Given the description of an element on the screen output the (x, y) to click on. 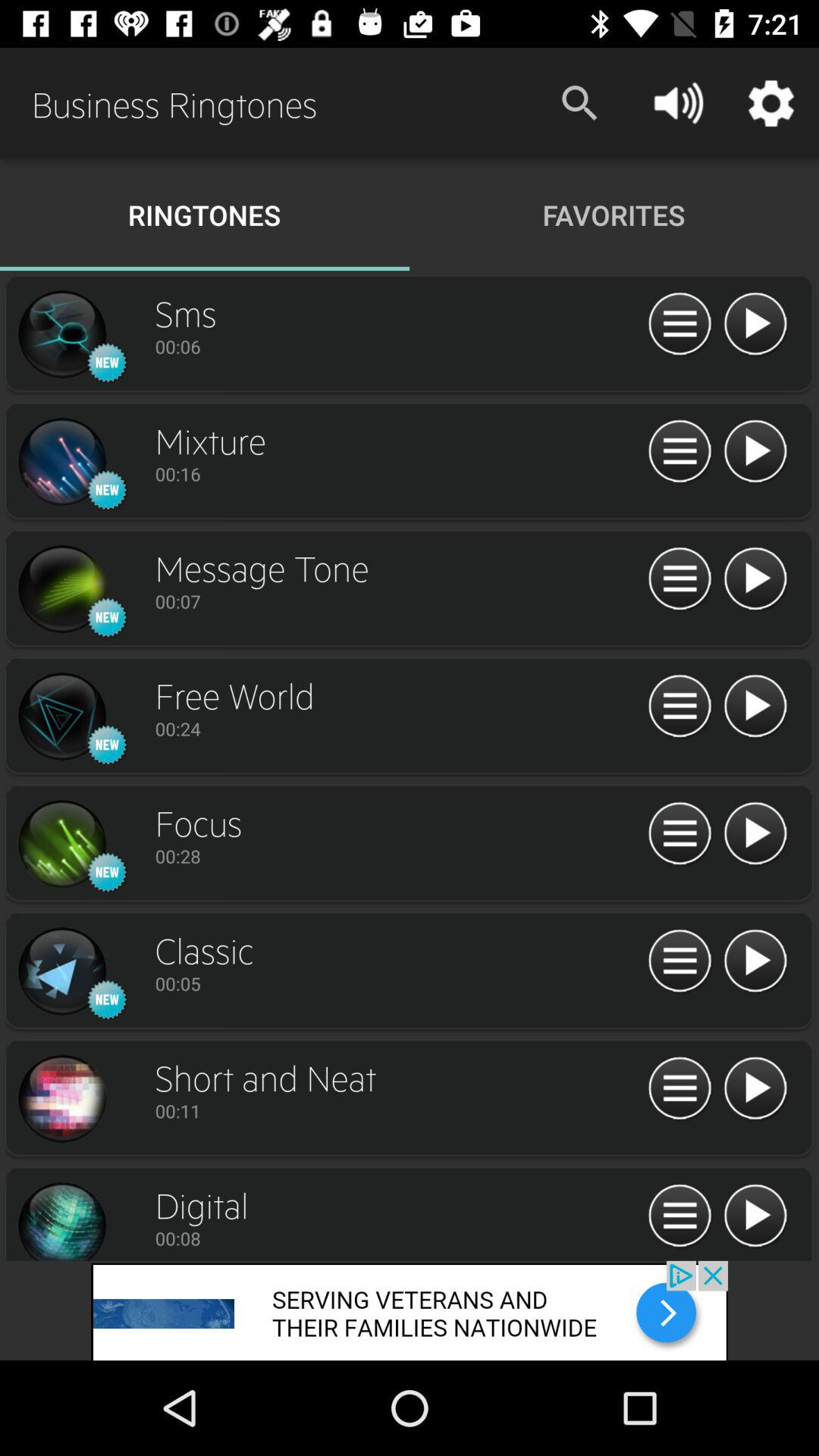
menu (679, 324)
